Given the description of an element on the screen output the (x, y) to click on. 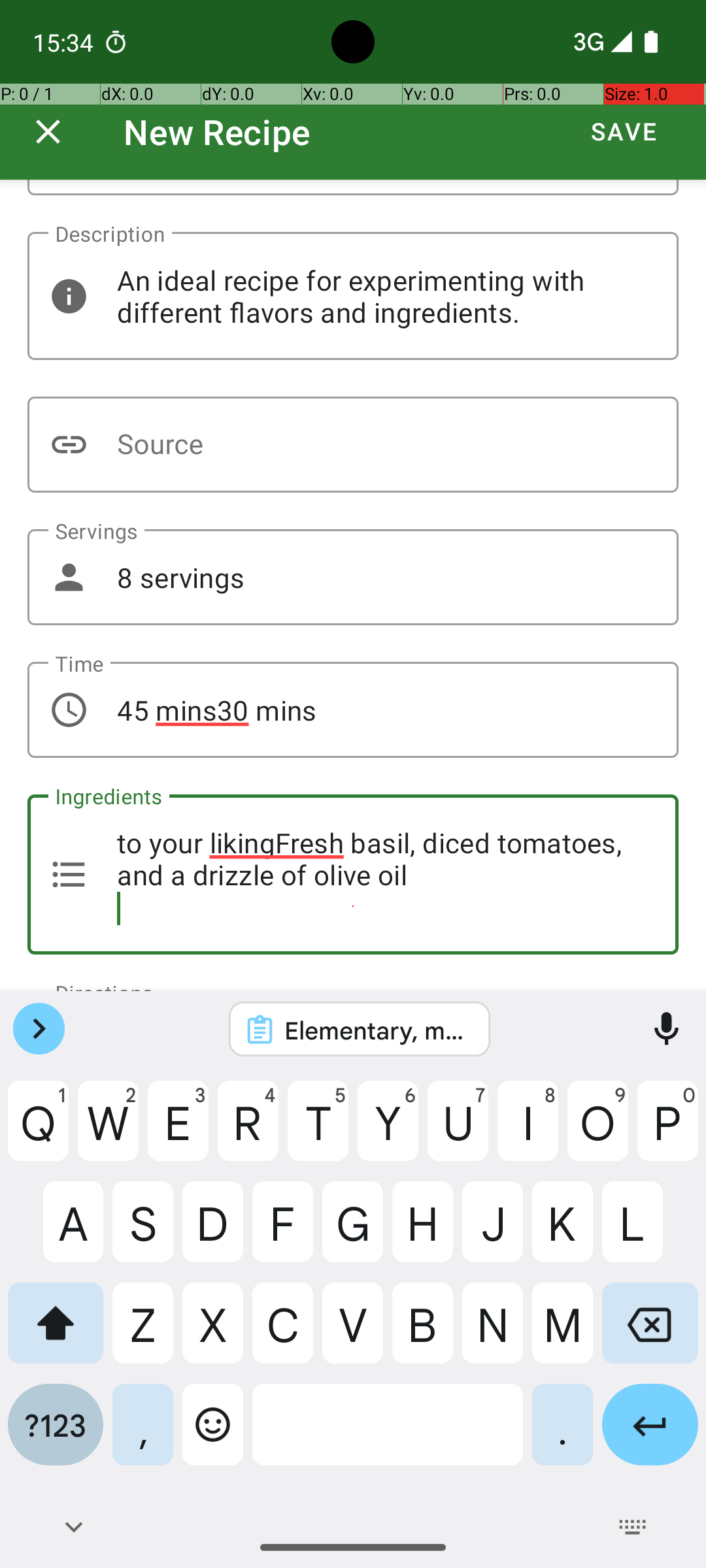
45 mins30 mins Element type: android.widget.EditText (352, 709)
to your likingFresh basil, diced tomatoes, and a drizzle of olive oil
 Element type: android.widget.EditText (352, 874)
Elementary, my dear Watson. Element type: android.widget.TextView (376, 1029)
